Given the description of an element on the screen output the (x, y) to click on. 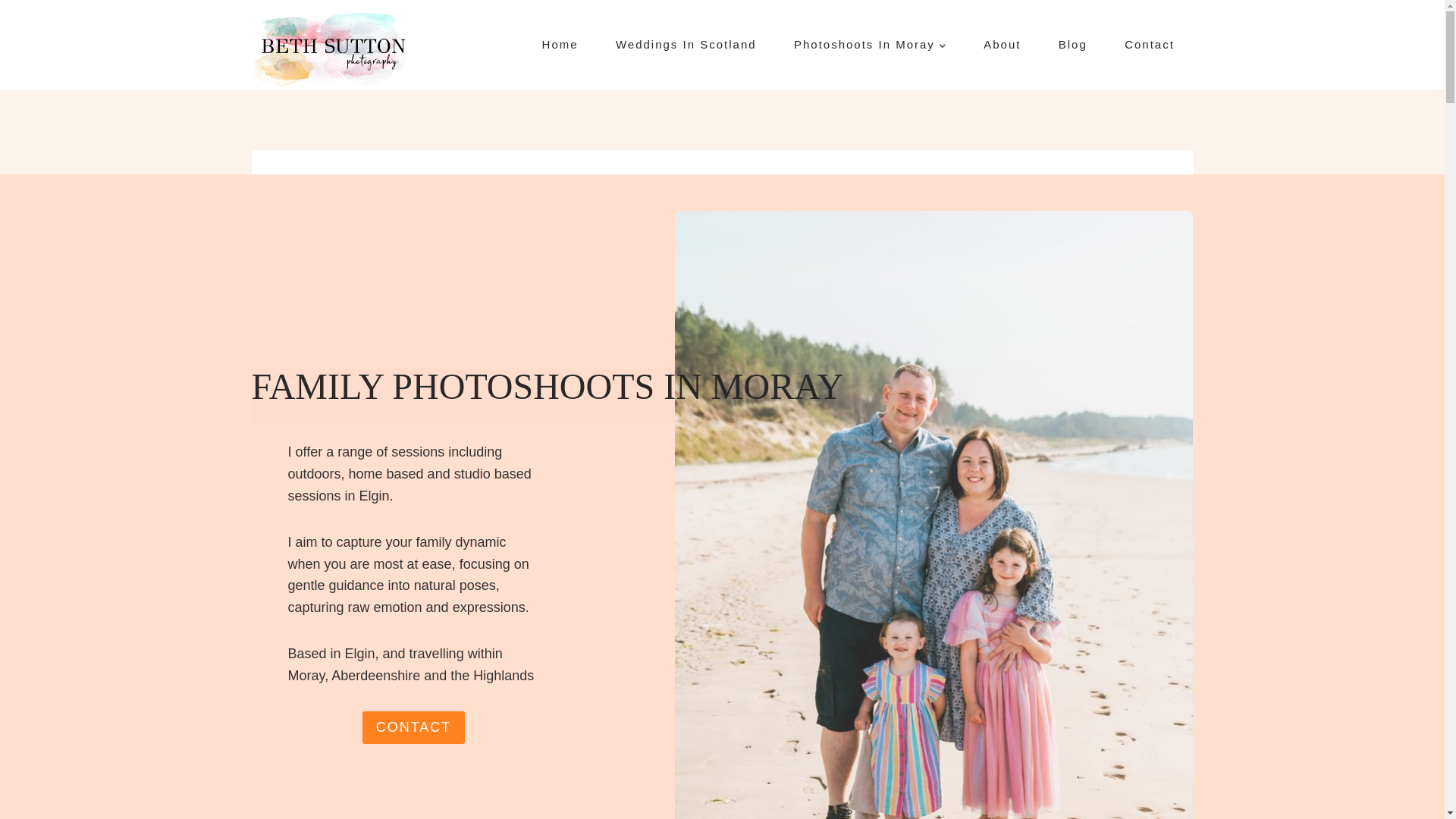
Weddings In Scotland (685, 44)
Blog (1072, 44)
CONTACT (413, 727)
Photoshoots In Moray (868, 44)
Home (559, 44)
About (1003, 44)
Contact (1148, 44)
